Given the description of an element on the screen output the (x, y) to click on. 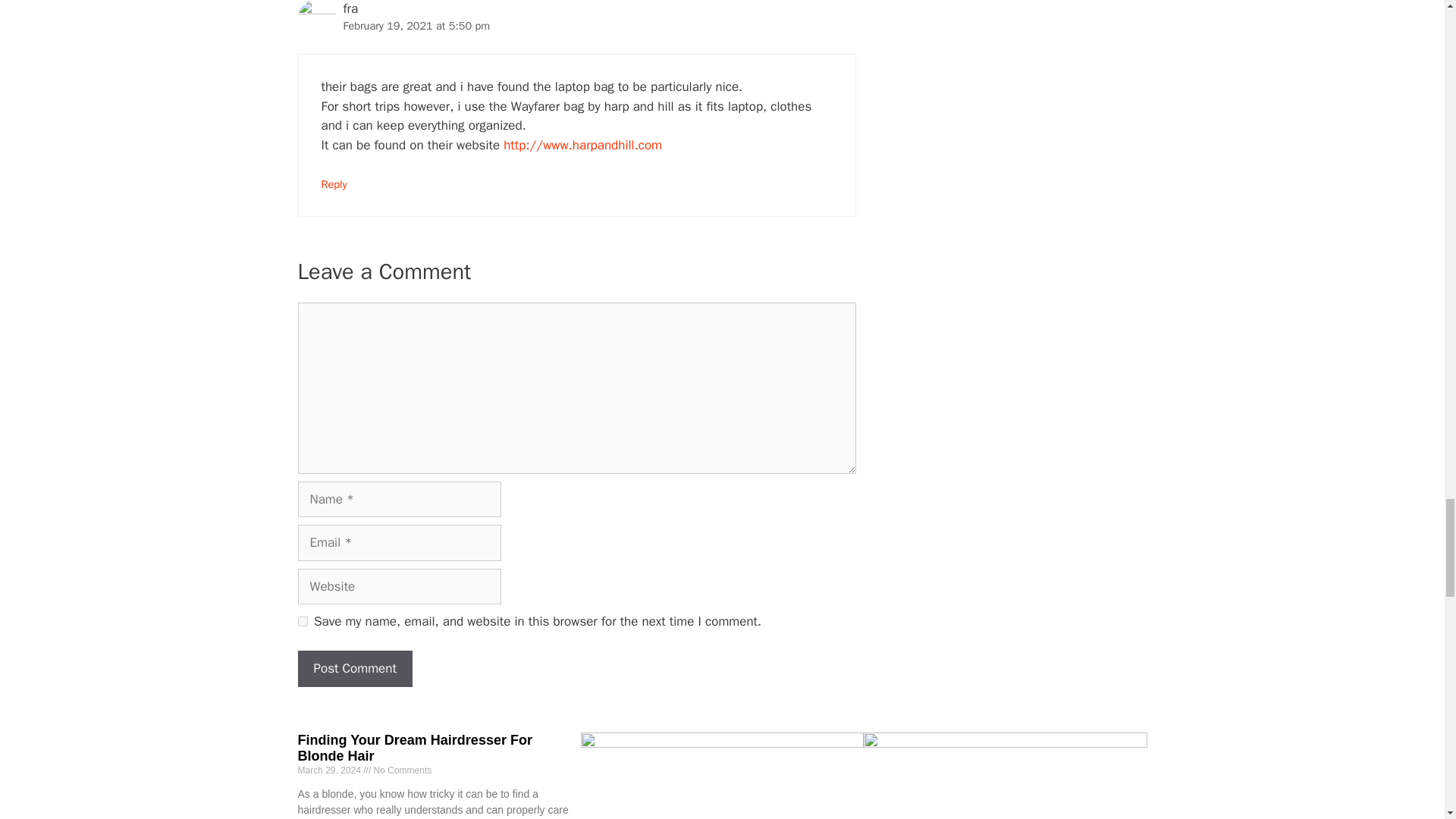
yes (302, 621)
Post Comment (354, 668)
